Given the description of an element on the screen output the (x, y) to click on. 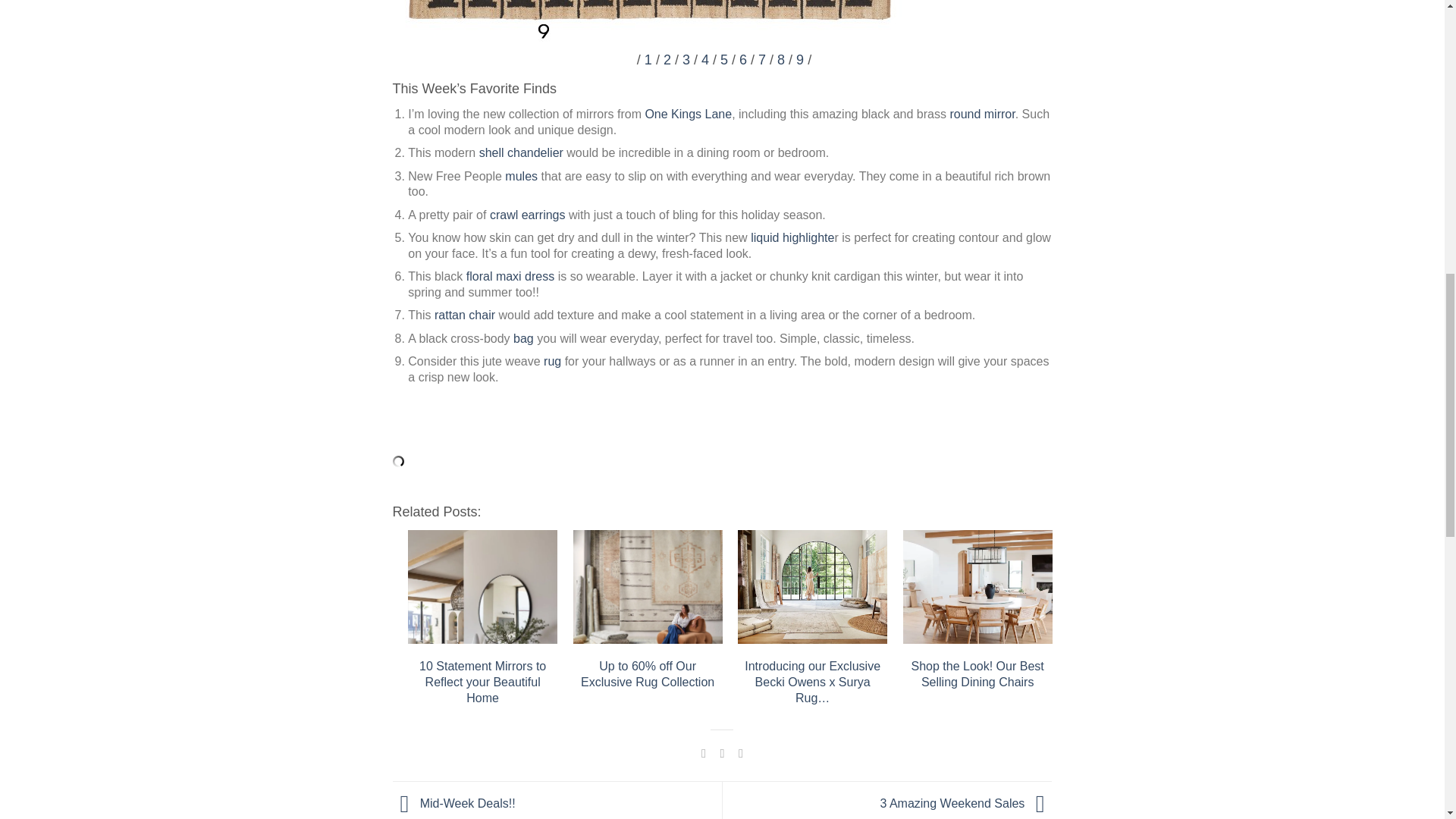
Shop the Look! Our Best Selling Dining Chairs (977, 586)
10 Statement Mirrors to Reflect your Beautiful Home (482, 586)
